Given the description of an element on the screen output the (x, y) to click on. 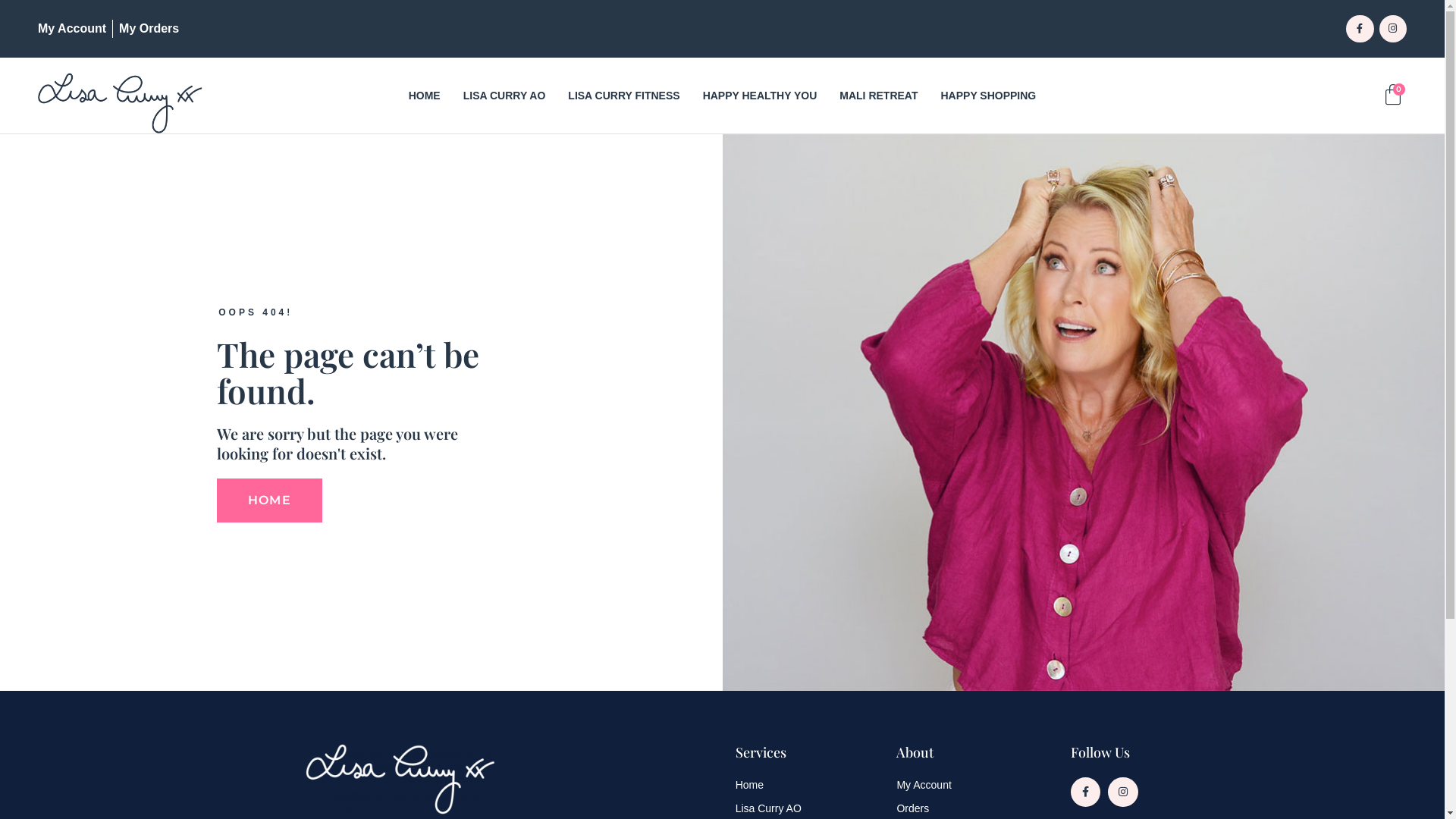
HAPPY HEALTHY YOU Element type: text (759, 95)
My Account Element type: text (960, 785)
Orders Element type: text (960, 808)
LISA CURRY FITNESS Element type: text (623, 95)
LISA CURRY AO Element type: text (504, 95)
0 Element type: text (1392, 94)
Lisa Curry AO Element type: text (808, 808)
HOME Element type: text (424, 95)
MALI RETREAT Element type: text (878, 95)
HAPPY SHOPPING Element type: text (987, 95)
My Account Element type: text (71, 28)
Home Element type: text (808, 785)
HOME Element type: text (268, 500)
My Orders Element type: text (148, 28)
